Given the description of an element on the screen output the (x, y) to click on. 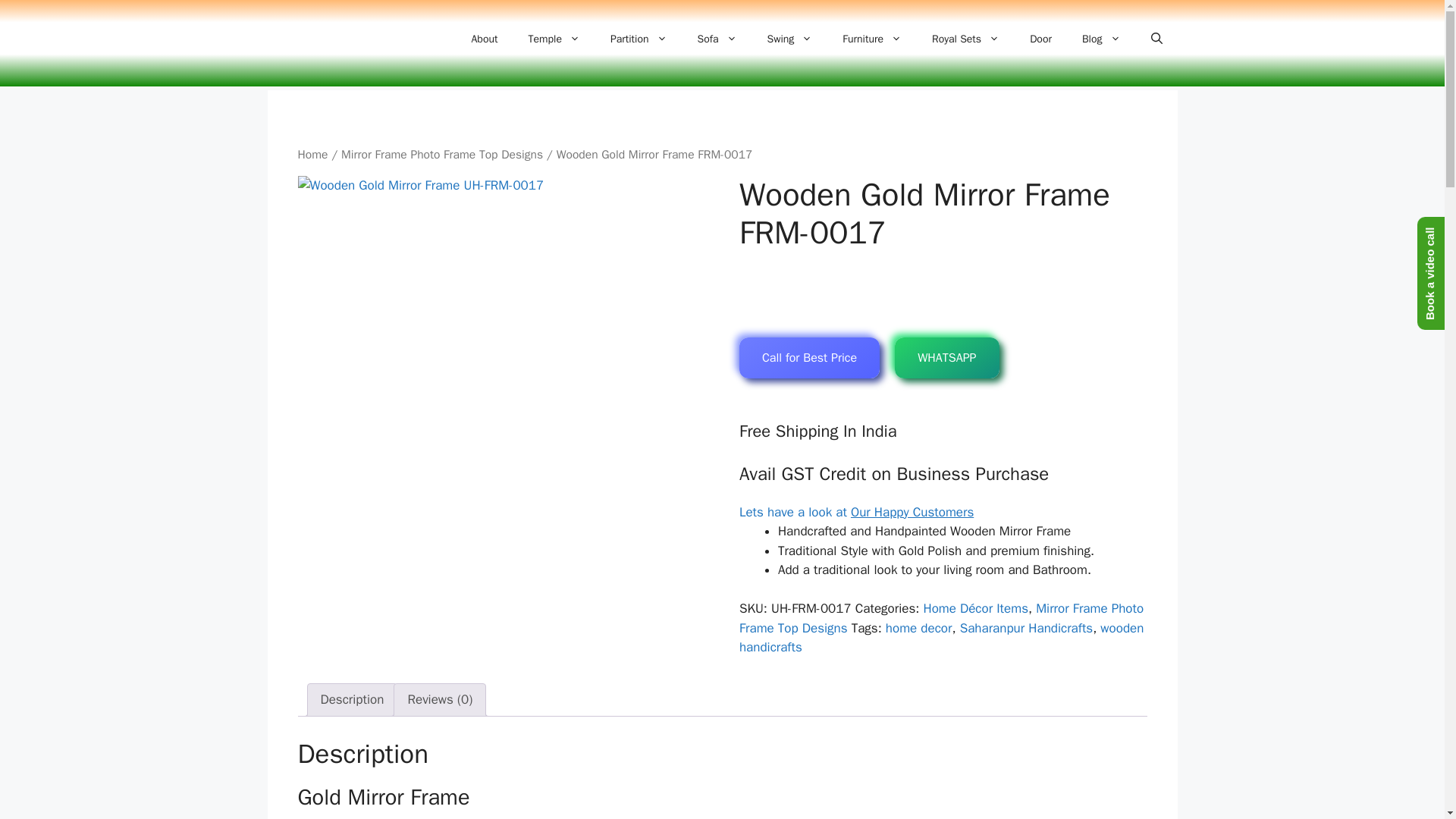
About (485, 38)
Swing (790, 38)
Temple (553, 38)
Partition (638, 38)
Sofa (717, 38)
Furniture (872, 38)
